Given the description of an element on the screen output the (x, y) to click on. 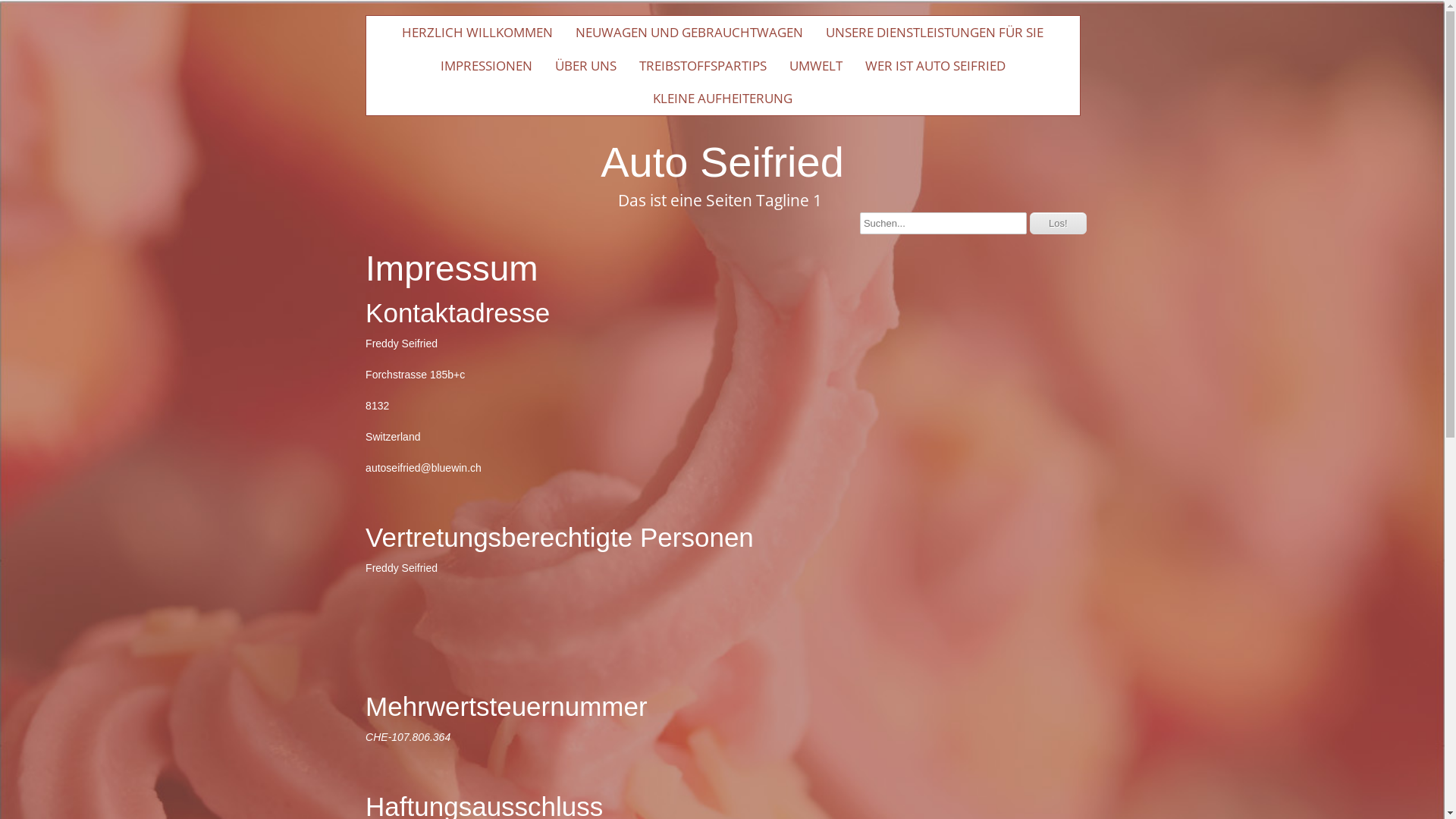
UMWELT Element type: text (815, 65)
IMPRESSIONEN Element type: text (486, 65)
KLEINE AUFHEITERUNG Element type: text (722, 98)
WER IST AUTO SEIFRIED Element type: text (934, 65)
TREIBSTOFFSPARTIPS Element type: text (702, 65)
HERZLICH WILLKOMMEN Element type: text (477, 32)
NEUWAGEN UND GEBRAUCHTWAGEN Element type: text (689, 32)
Auto Seifried Element type: text (722, 159)
Los! Element type: text (1057, 223)
